Given the description of an element on the screen output the (x, y) to click on. 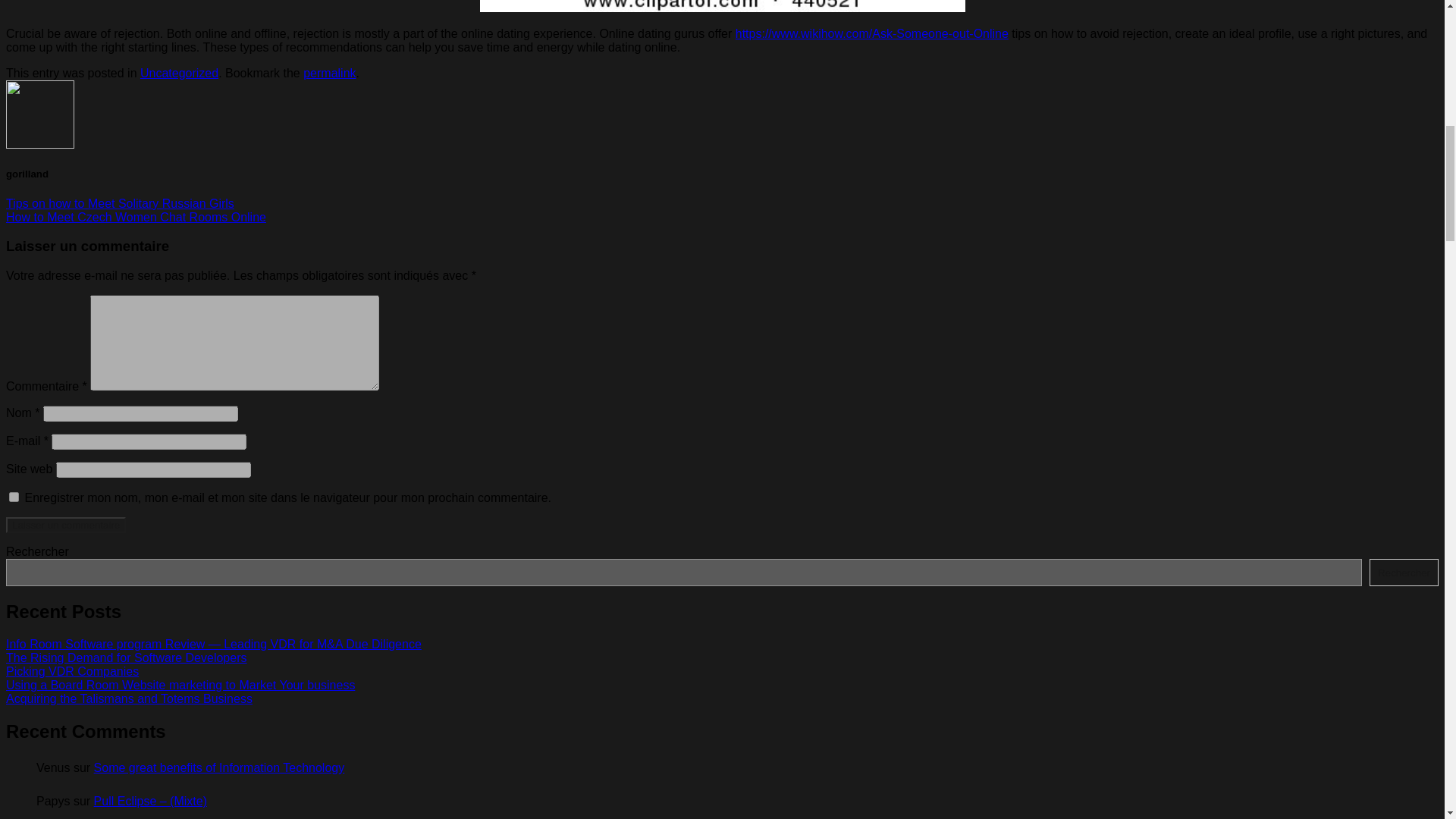
permalink (328, 72)
Uncategorized (178, 72)
Laisser un commentaire (65, 524)
Laisser un commentaire (65, 524)
Using a Board Room Website marketing to Market Your business (180, 684)
yes (13, 497)
Some great benefits of Information Technology (219, 767)
Picking VDR Companies (71, 671)
How to Meet Czech Women Chat Rooms Online (135, 216)
Permalink to Tips on how to Keep Online dating Rules Online (328, 72)
Tips on how to Meet Solitary Russian Girls (119, 203)
Acquiring the Talismans and Totems Business (128, 698)
The Rising Demand for Software Developers (125, 657)
